Given the description of an element on the screen output the (x, y) to click on. 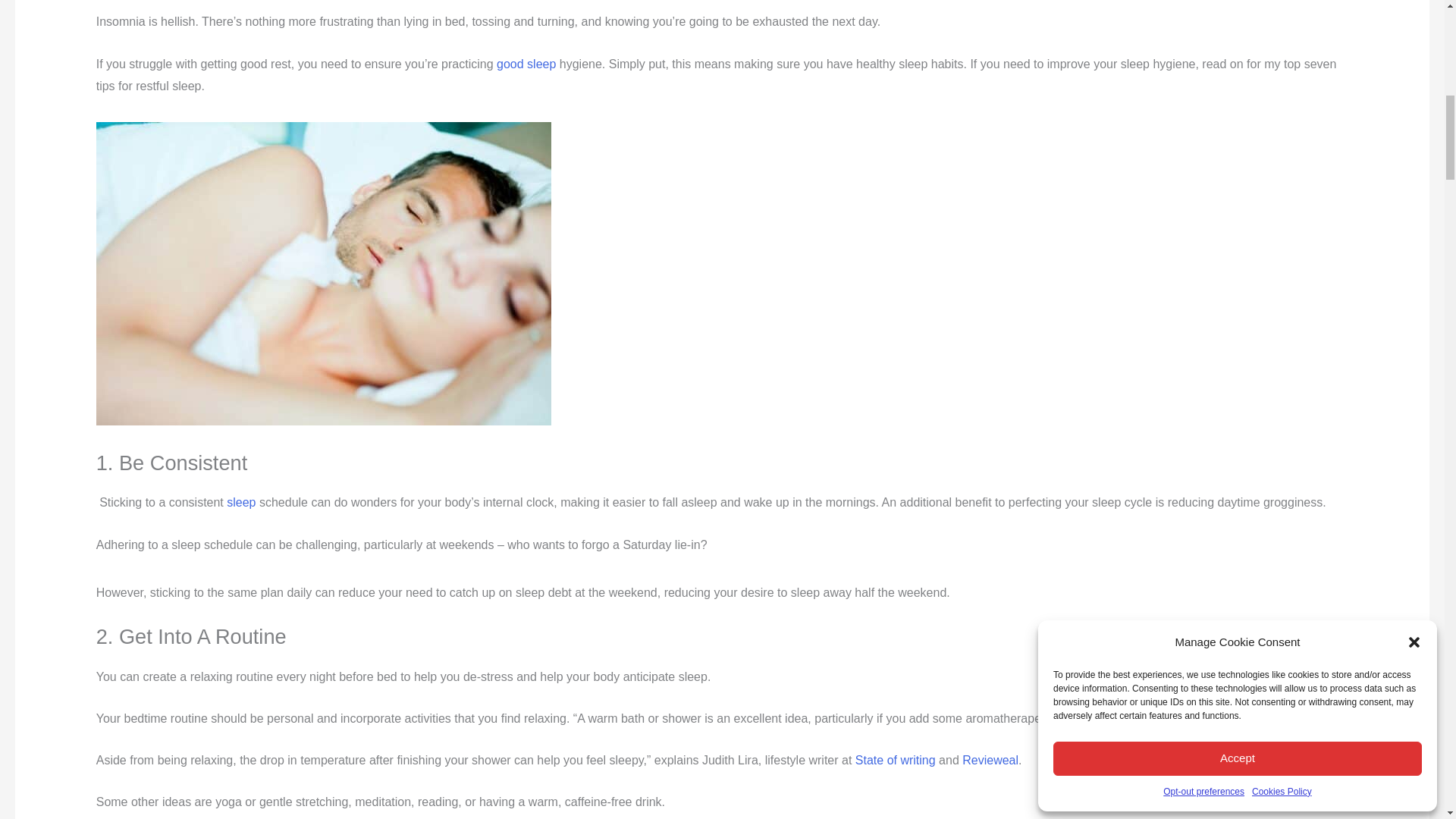
State of writing (896, 759)
sleep (241, 502)
good sleep (526, 63)
Revieweal (989, 759)
sleep (241, 502)
